Given the description of an element on the screen output the (x, y) to click on. 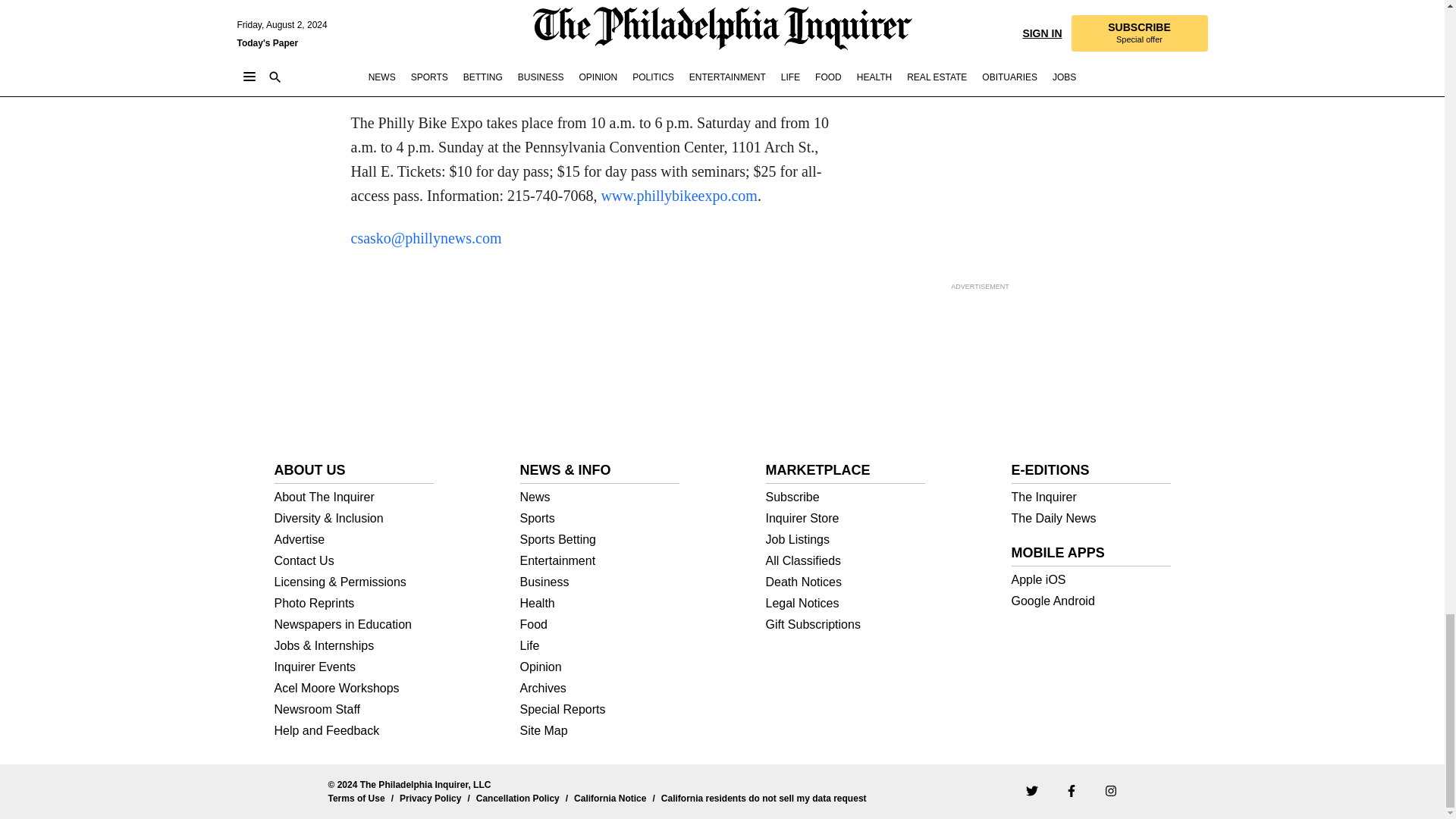
About The Inquirer (354, 497)
www.phillybikeexpo.com (678, 195)
Advertise (354, 539)
Facebook (1070, 790)
Instagram (1109, 790)
Twitter (1030, 790)
